Given the description of an element on the screen output the (x, y) to click on. 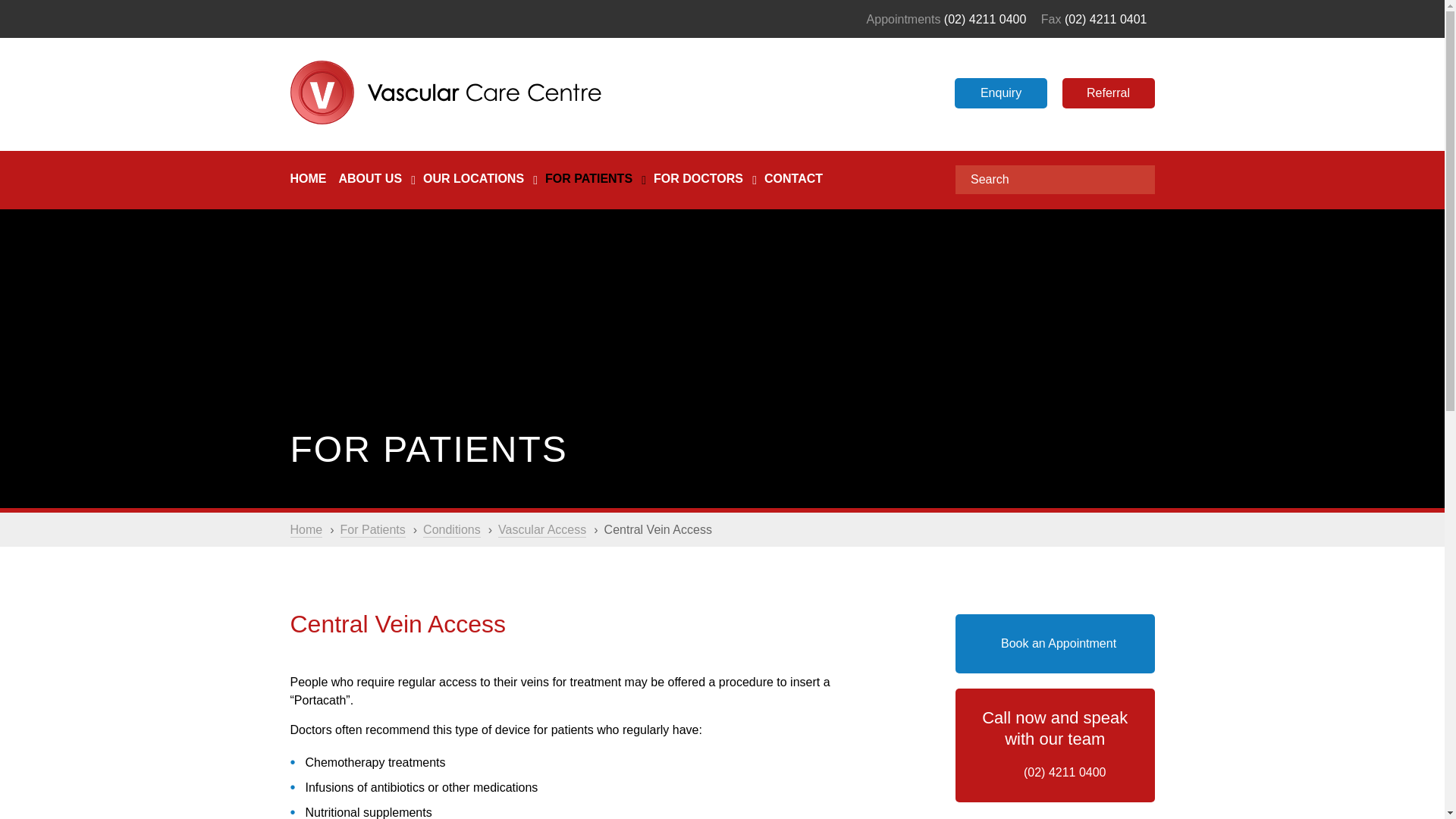
Enquiry (1000, 92)
Referral (1107, 92)
Search for: (1054, 179)
Homepage (305, 530)
Conditions (451, 530)
For Patients (373, 530)
ABOUT US (369, 189)
Vascular Access (541, 530)
HOME (307, 189)
